Given the description of an element on the screen output the (x, y) to click on. 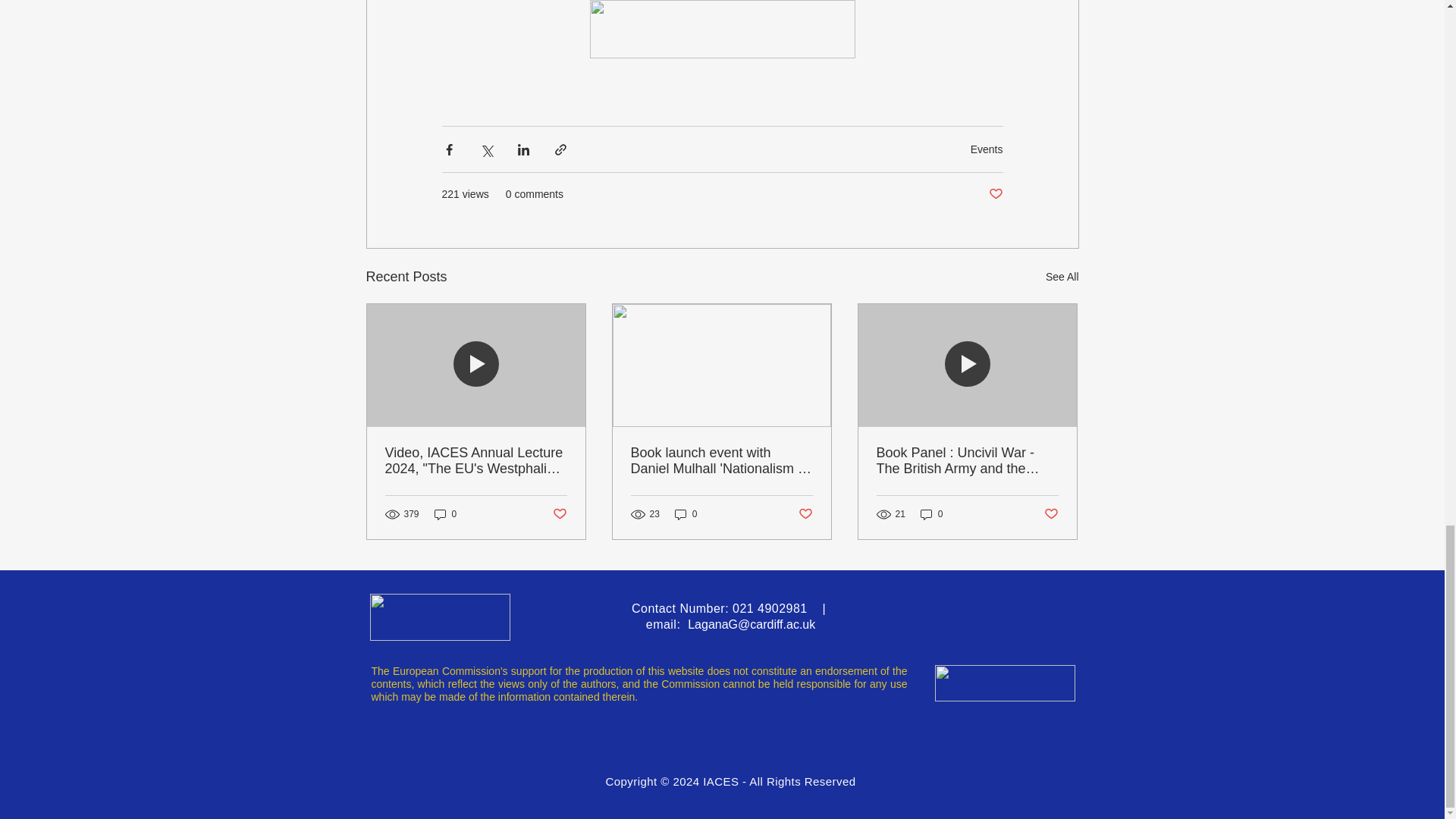
0 (931, 513)
0 (685, 513)
Post not marked as liked (804, 514)
Twitter Follow (1021, 616)
Events (987, 149)
See All (1061, 277)
Post not marked as liked (995, 194)
0 (445, 513)
Post not marked as liked (558, 514)
